Given the description of an element on the screen output the (x, y) to click on. 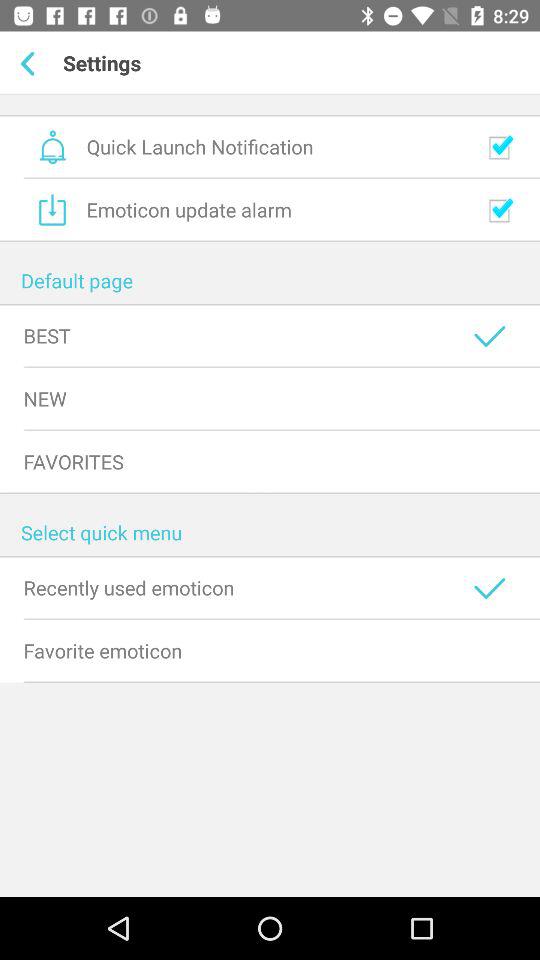
switch emoticon update alarm (500, 210)
